Given the description of an element on the screen output the (x, y) to click on. 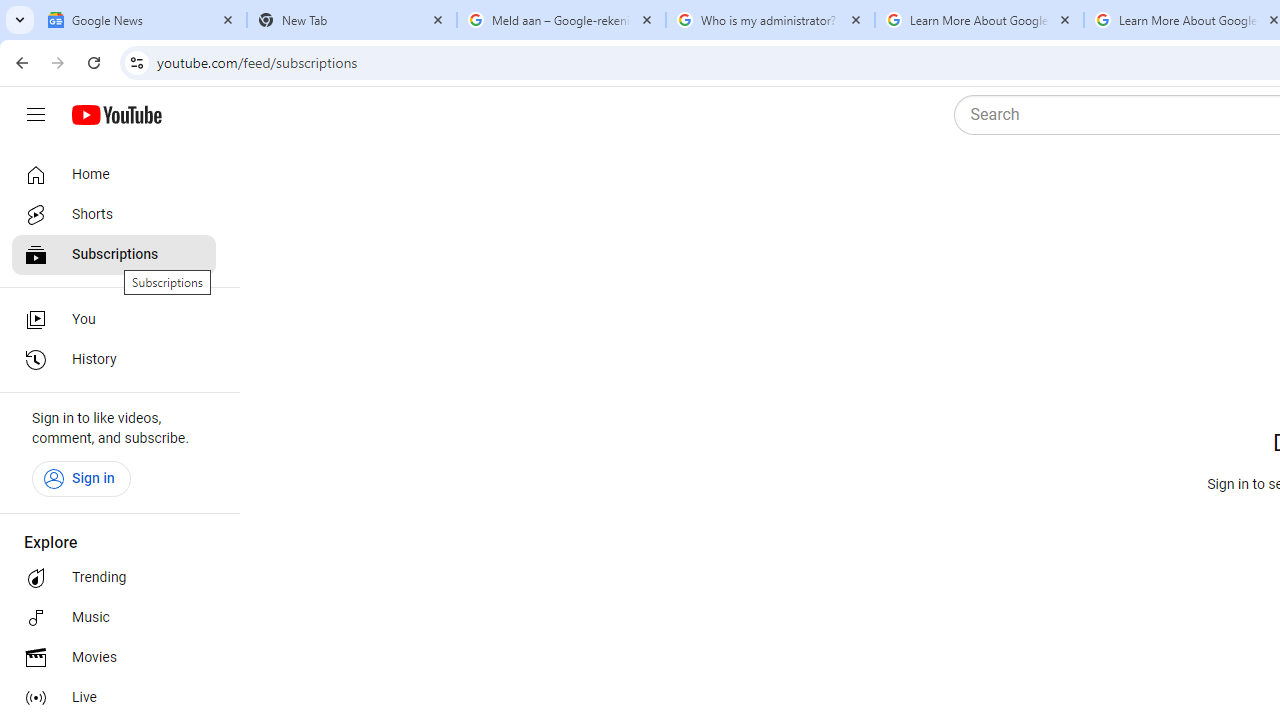
Movies (113, 657)
Live (113, 697)
Who is my administrator? - Google Account Help (770, 20)
YouTube Home (116, 115)
Shorts (113, 214)
Trending (113, 578)
Subscriptions (113, 254)
Google News (142, 20)
